Given the description of an element on the screen output the (x, y) to click on. 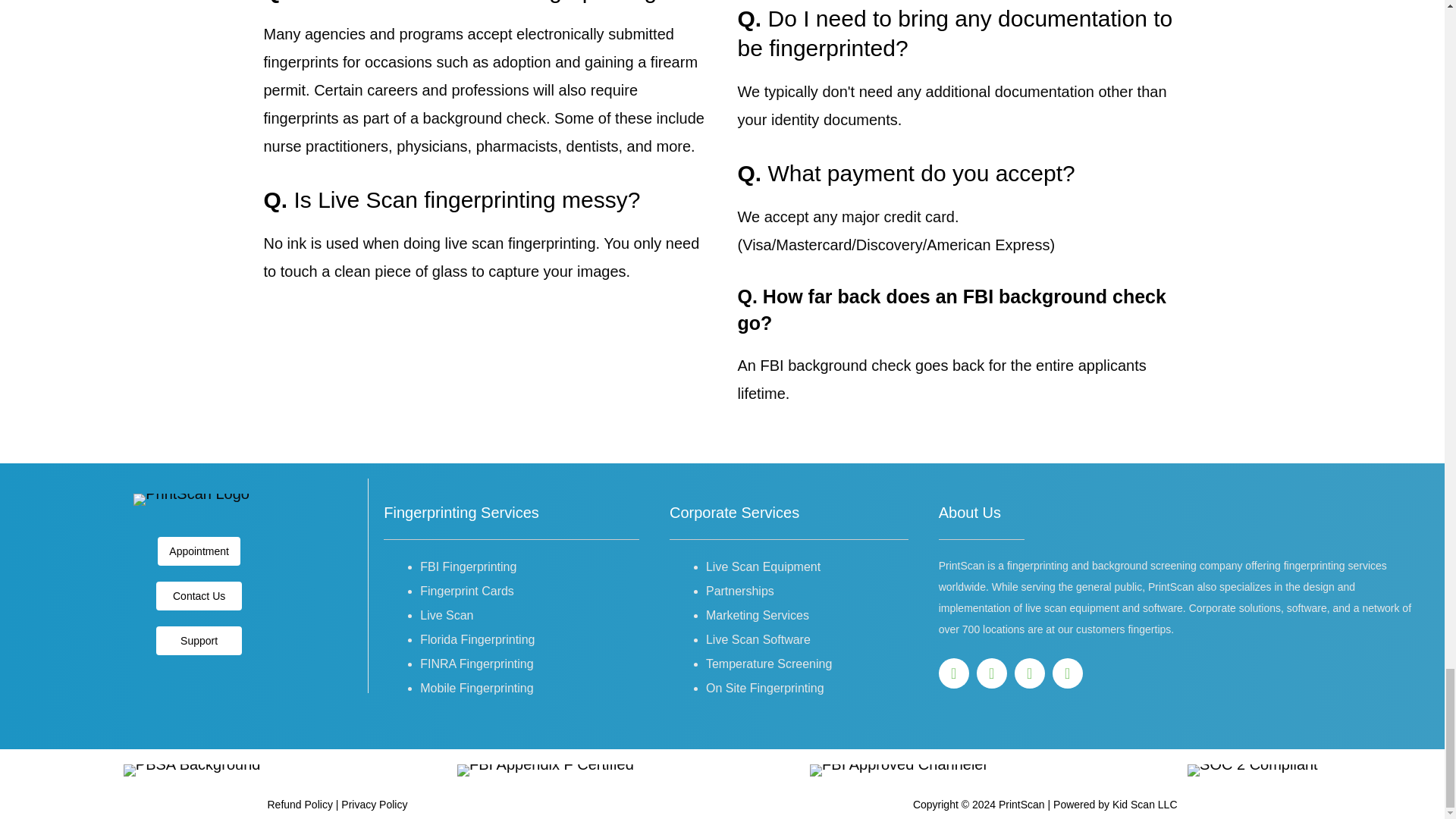
FBI Appendix F Certified (545, 770)
PBSA Background (191, 770)
FBI Approved Channeler (898, 770)
PrintScan Logo (190, 499)
SOC 2 Compliant (1252, 770)
